Given the description of an element on the screen output the (x, y) to click on. 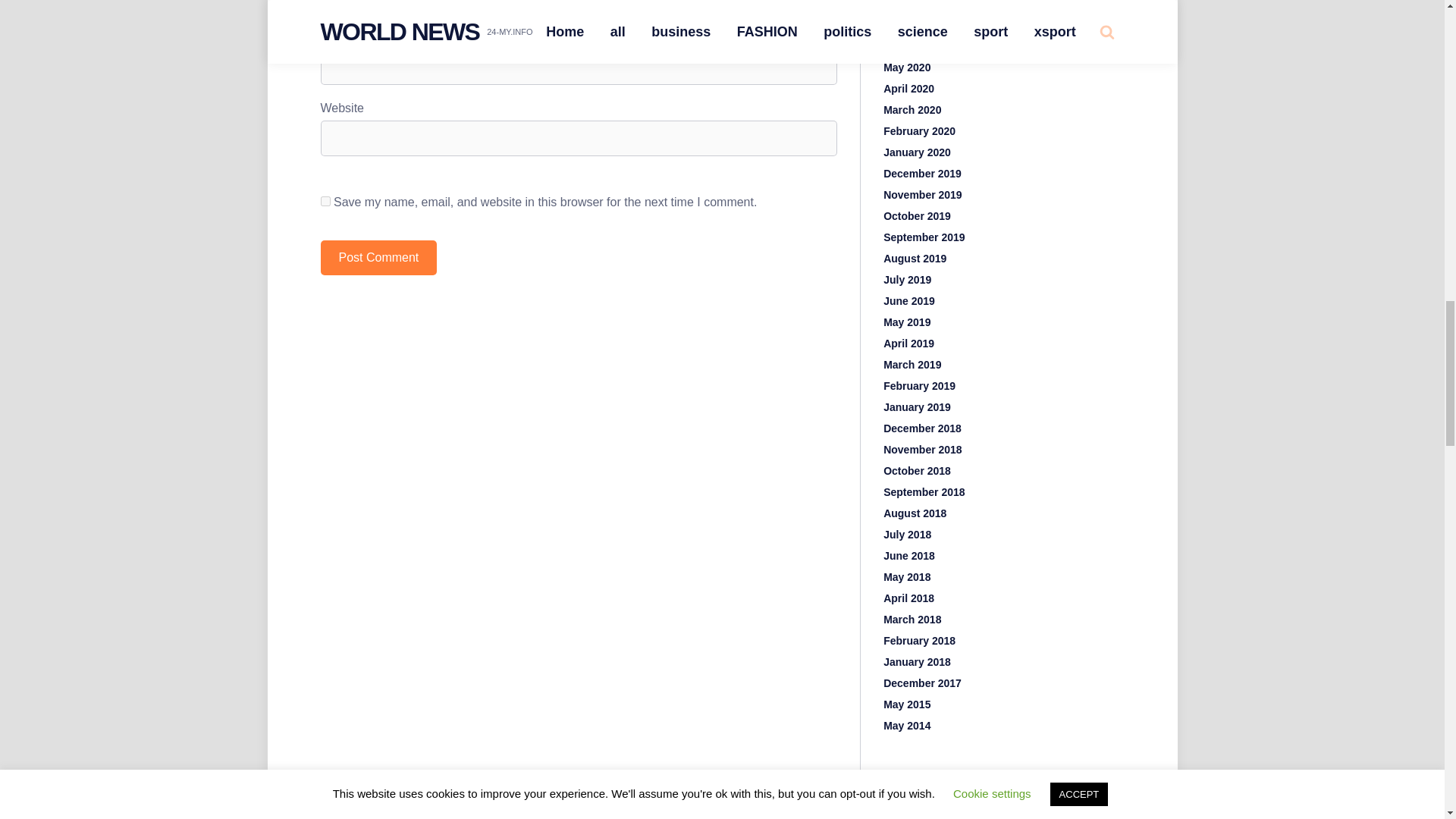
yes (325, 201)
Post Comment (378, 257)
Post Comment (378, 257)
